Given the description of an element on the screen output the (x, y) to click on. 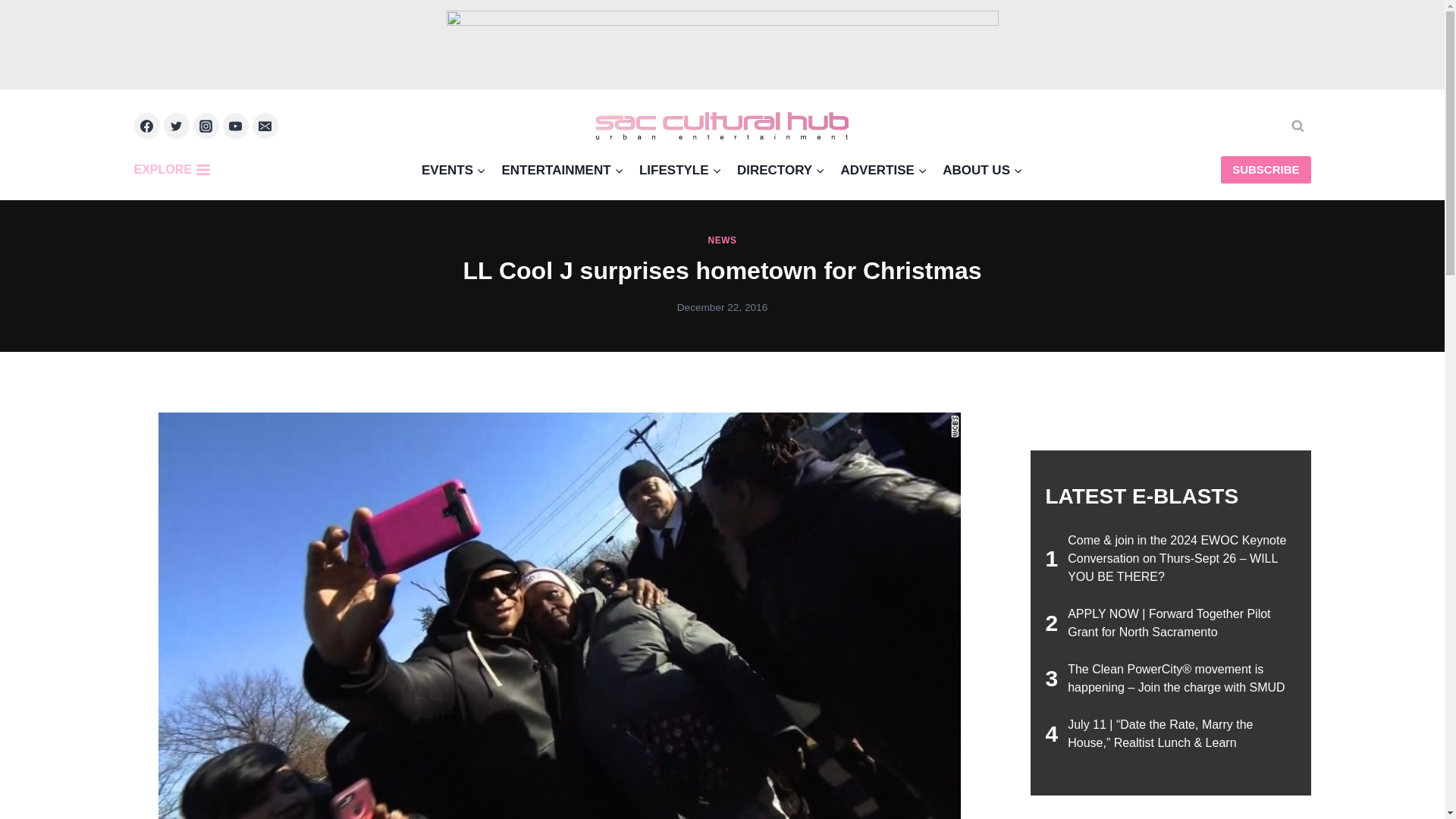
LIFESTYLE (680, 169)
ENTERTAINMENT (562, 169)
EVENTS (453, 169)
EXPLORE (174, 169)
